Given the description of an element on the screen output the (x, y) to click on. 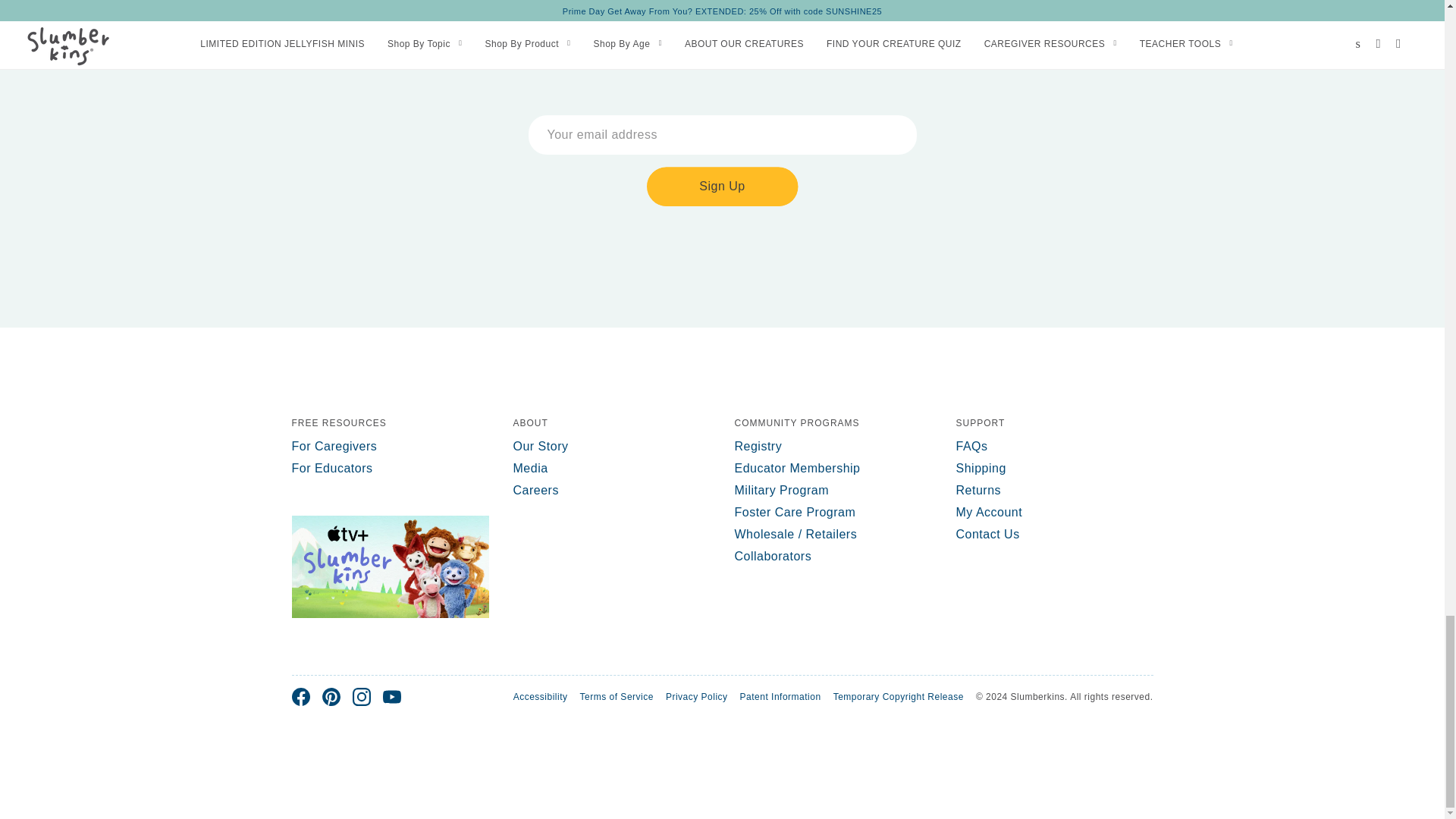
Slumberkins on Pinterest (330, 696)
Slumberkins on Instagram (360, 696)
Slumberkins on YouTube (390, 696)
Pinterest Page (330, 696)
Slumberkins on Facebook (299, 696)
Facebook Page (299, 696)
YouTube Page (390, 696)
Instagram Page (360, 696)
